Given the description of an element on the screen output the (x, y) to click on. 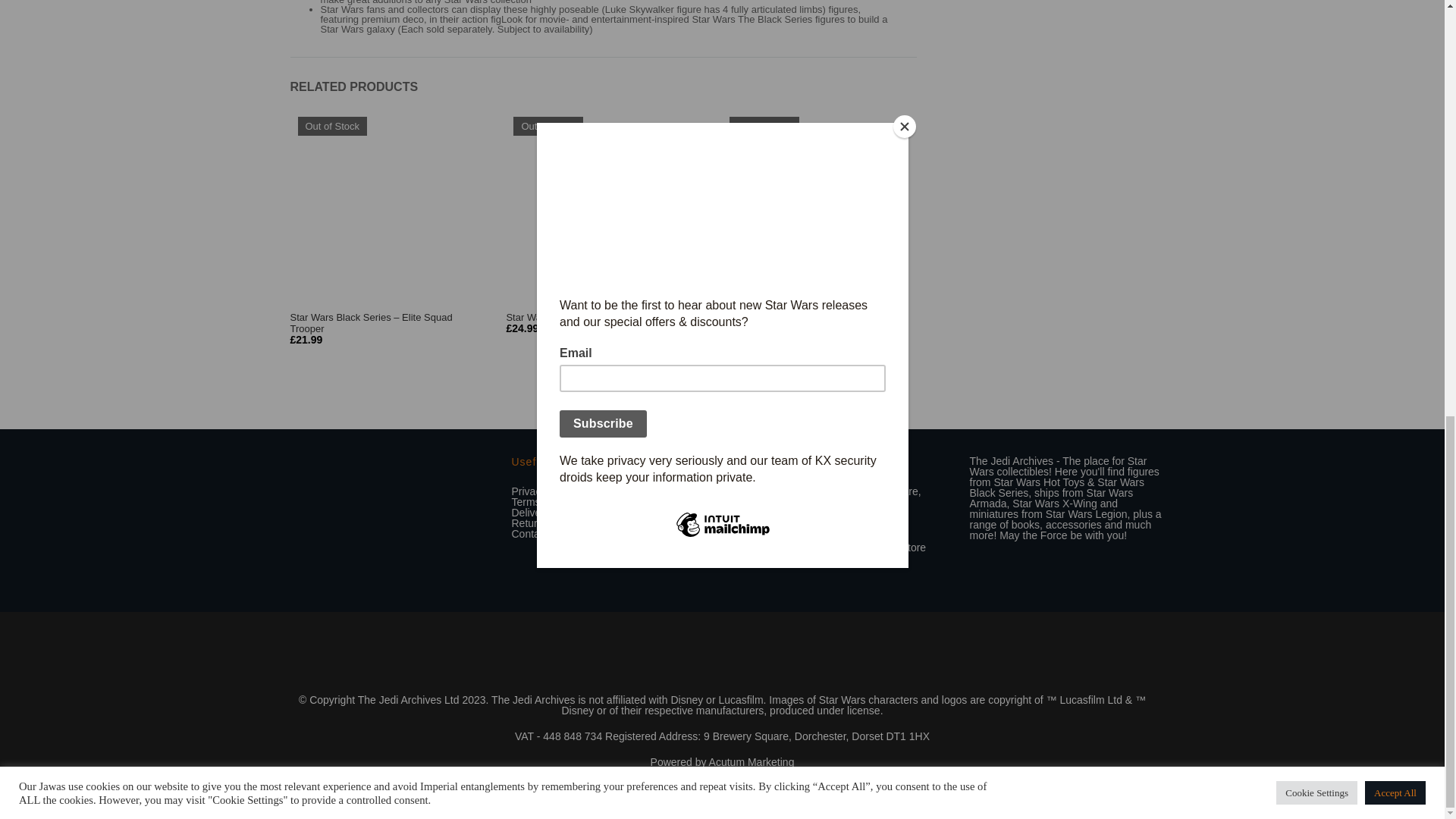
View our Ecologi profile (721, 658)
